Given the description of an element on the screen output the (x, y) to click on. 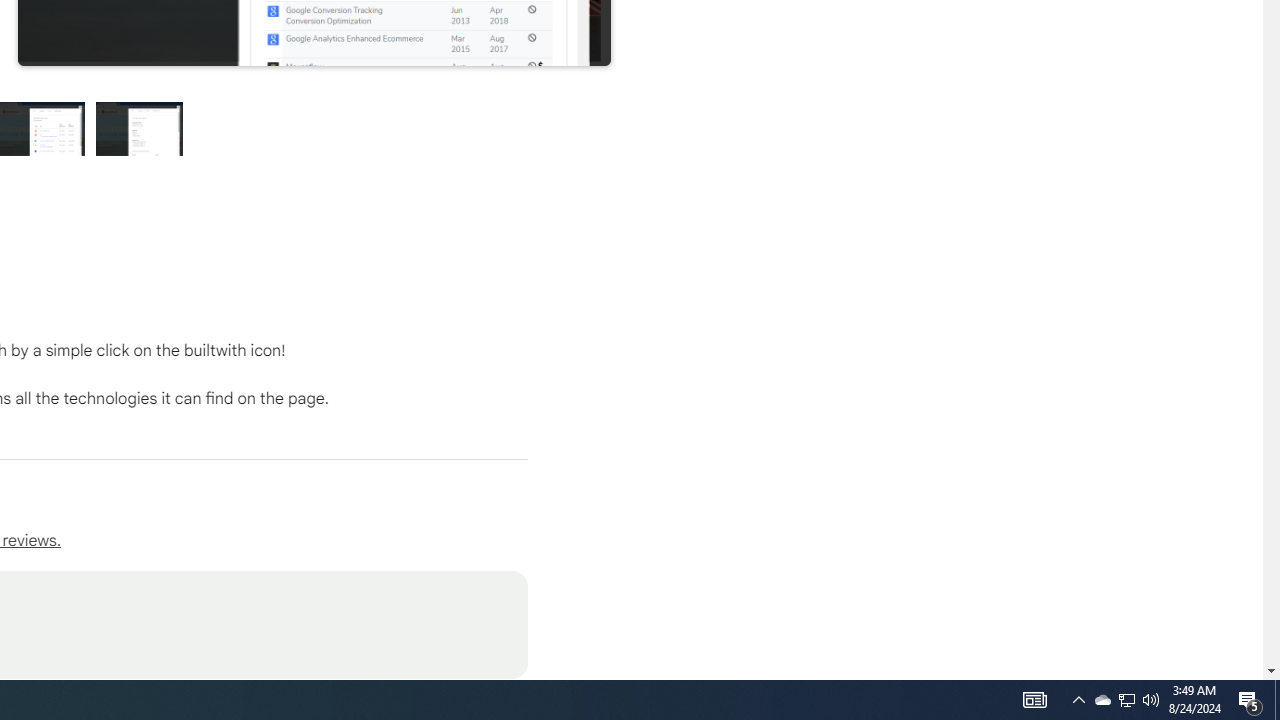
Preview slide 4 (140, 128)
